Given the description of an element on the screen output the (x, y) to click on. 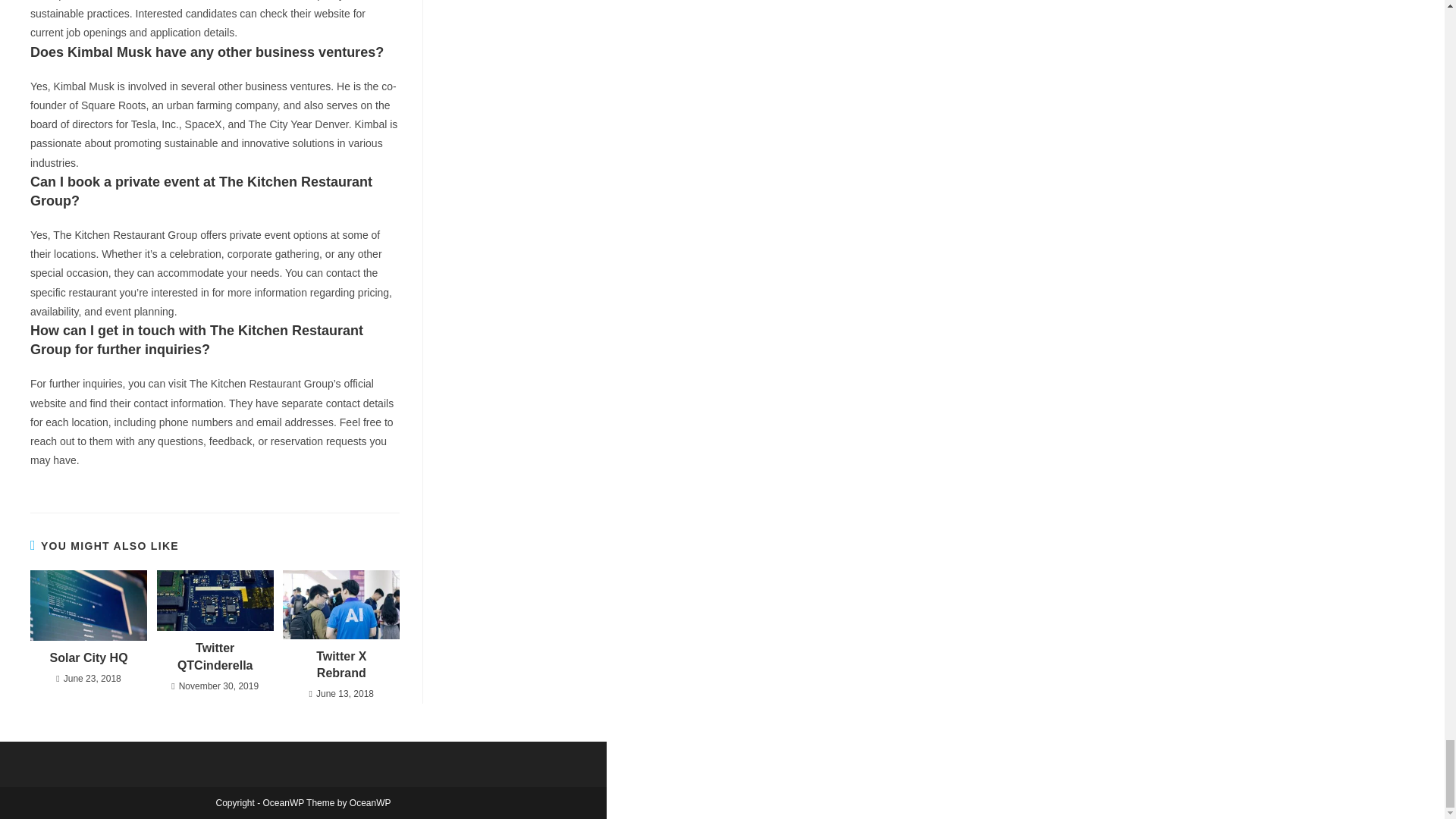
Twitter X Rebrand (341, 665)
Solar City HQ (88, 658)
Twitter QTCinderella (214, 656)
